Given the description of an element on the screen output the (x, y) to click on. 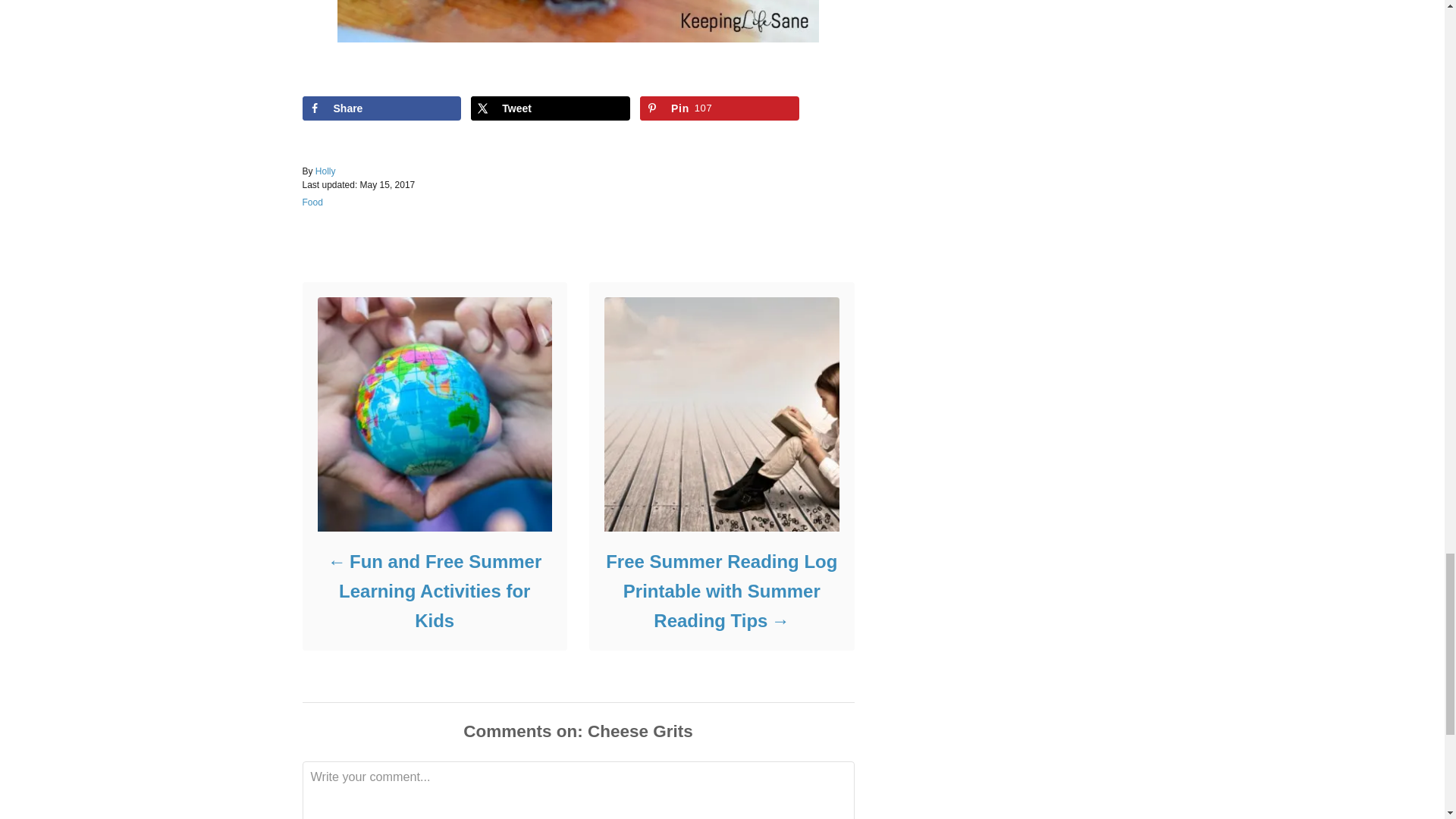
Holly (325, 171)
Share (381, 108)
Share on Facebook (381, 108)
Food (311, 202)
Share on X (550, 108)
Fun and Free Summer Learning Activities for Kids (434, 591)
Save to Pinterest (719, 108)
Tweet (550, 108)
Free Summer Reading Log Printable with Summer Reading Tips (721, 591)
